Given the description of an element on the screen output the (x, y) to click on. 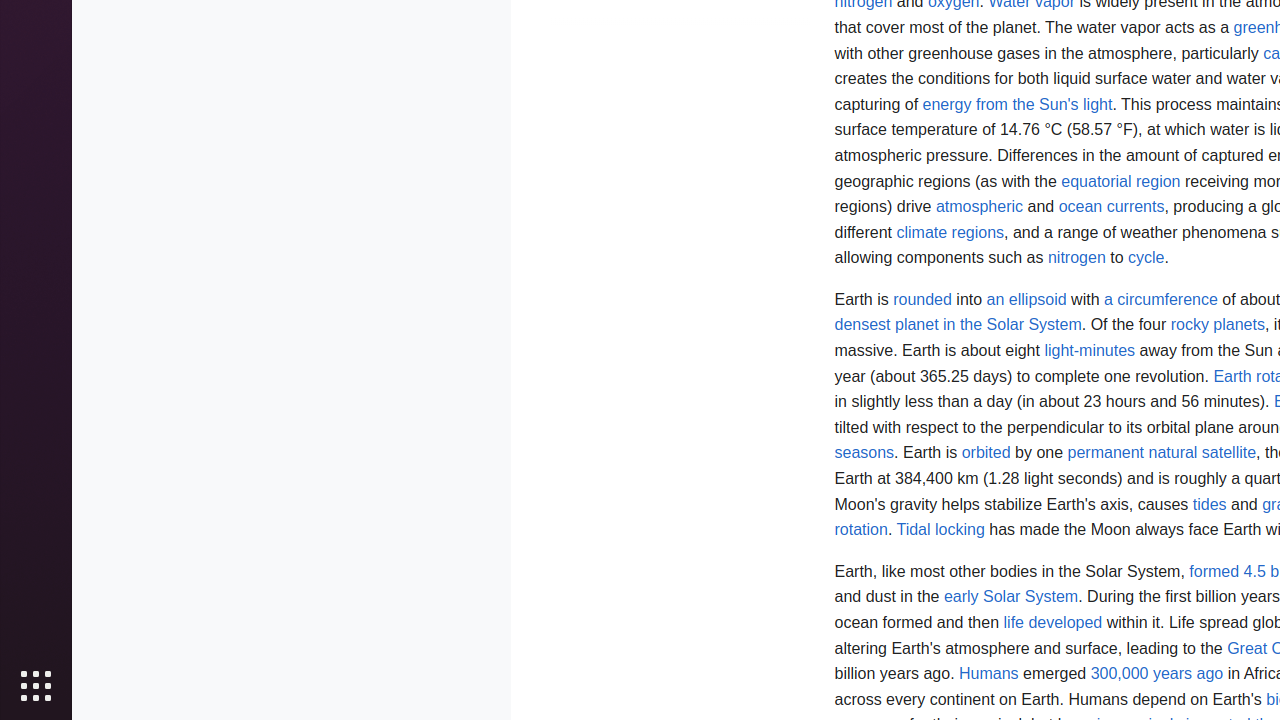
rocky planets Element type: link (1217, 325)
an ellipsoid Element type: link (1026, 299)
atmospheric Element type: link (979, 207)
ocean currents Element type: link (1111, 207)
seasons Element type: link (864, 453)
